Given the description of an element on the screen output the (x, y) to click on. 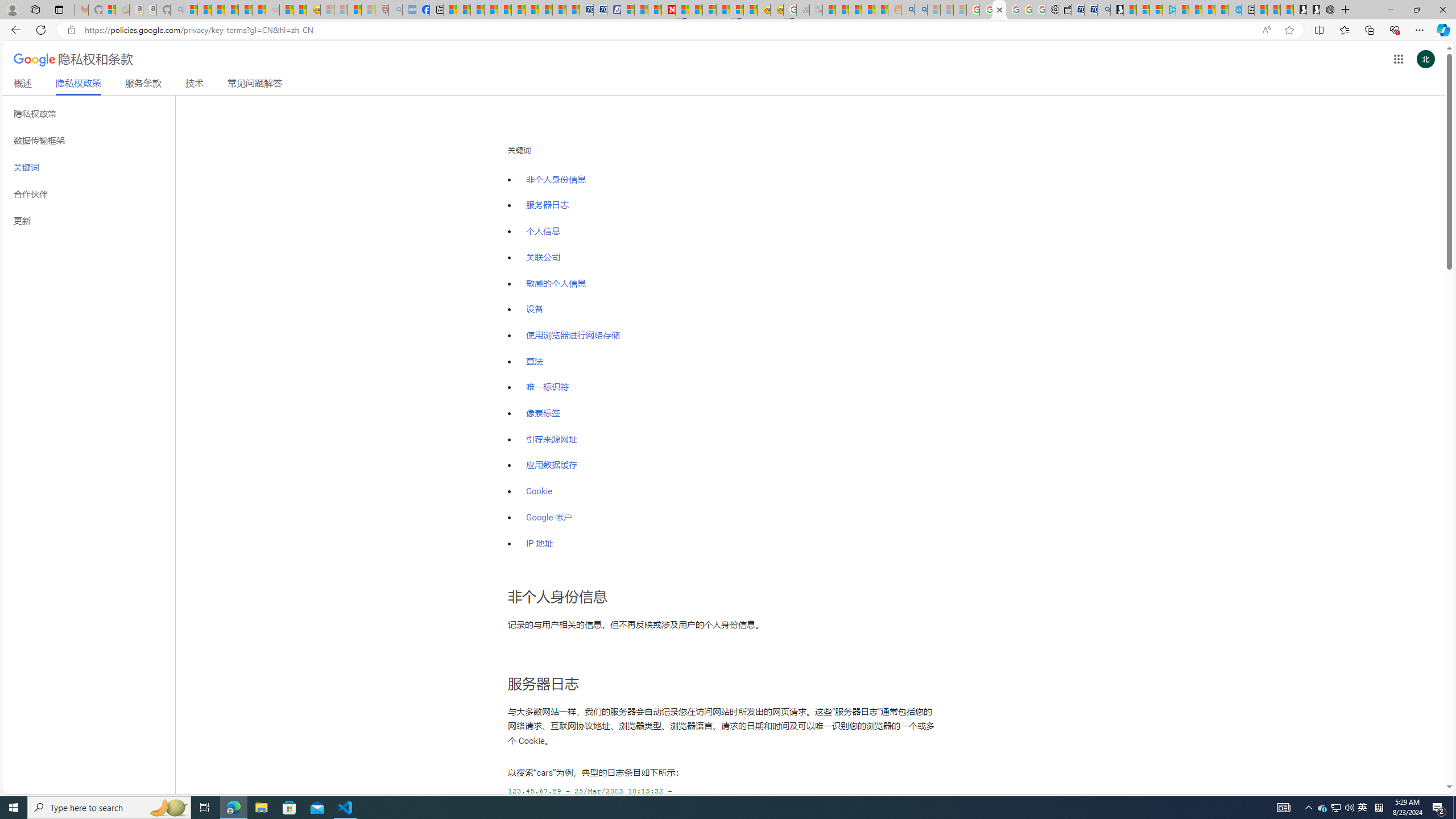
World - MSN (477, 9)
Bing Real Estate - Home sales and rental listings (1103, 9)
